Given the description of an element on the screen output the (x, y) to click on. 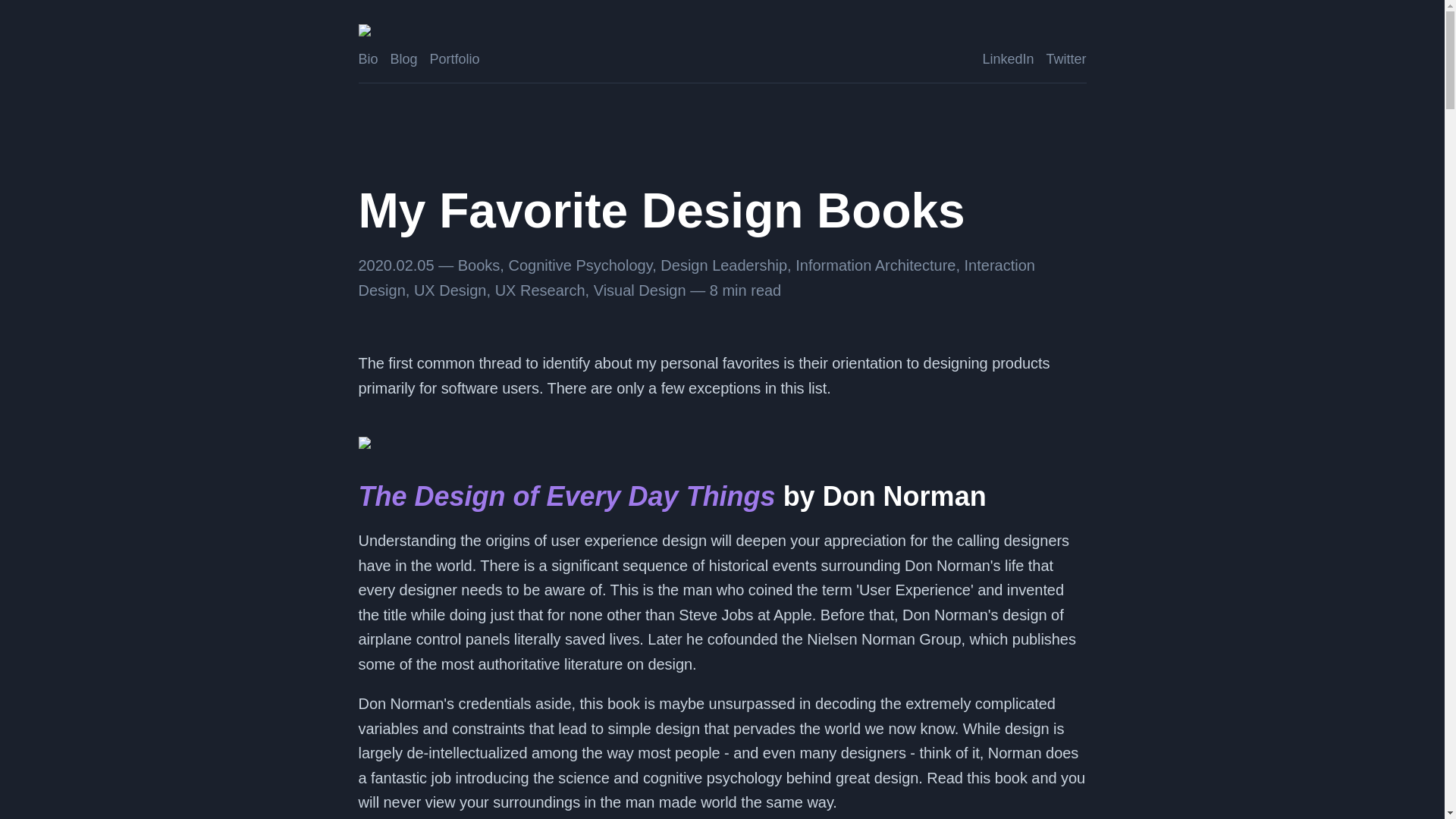
The Design of Every Day Things (566, 495)
Information Architecture (874, 265)
Design Leadership (724, 265)
Twitter (1065, 58)
UX Research (540, 289)
Blog (403, 58)
Bio (367, 58)
Interaction Design (695, 277)
Visual Design (639, 289)
Cognitive Psychology (580, 265)
Books (479, 265)
LinkedIn (1007, 58)
Portfolio (454, 58)
UX Design (449, 289)
